Given the description of an element on the screen output the (x, y) to click on. 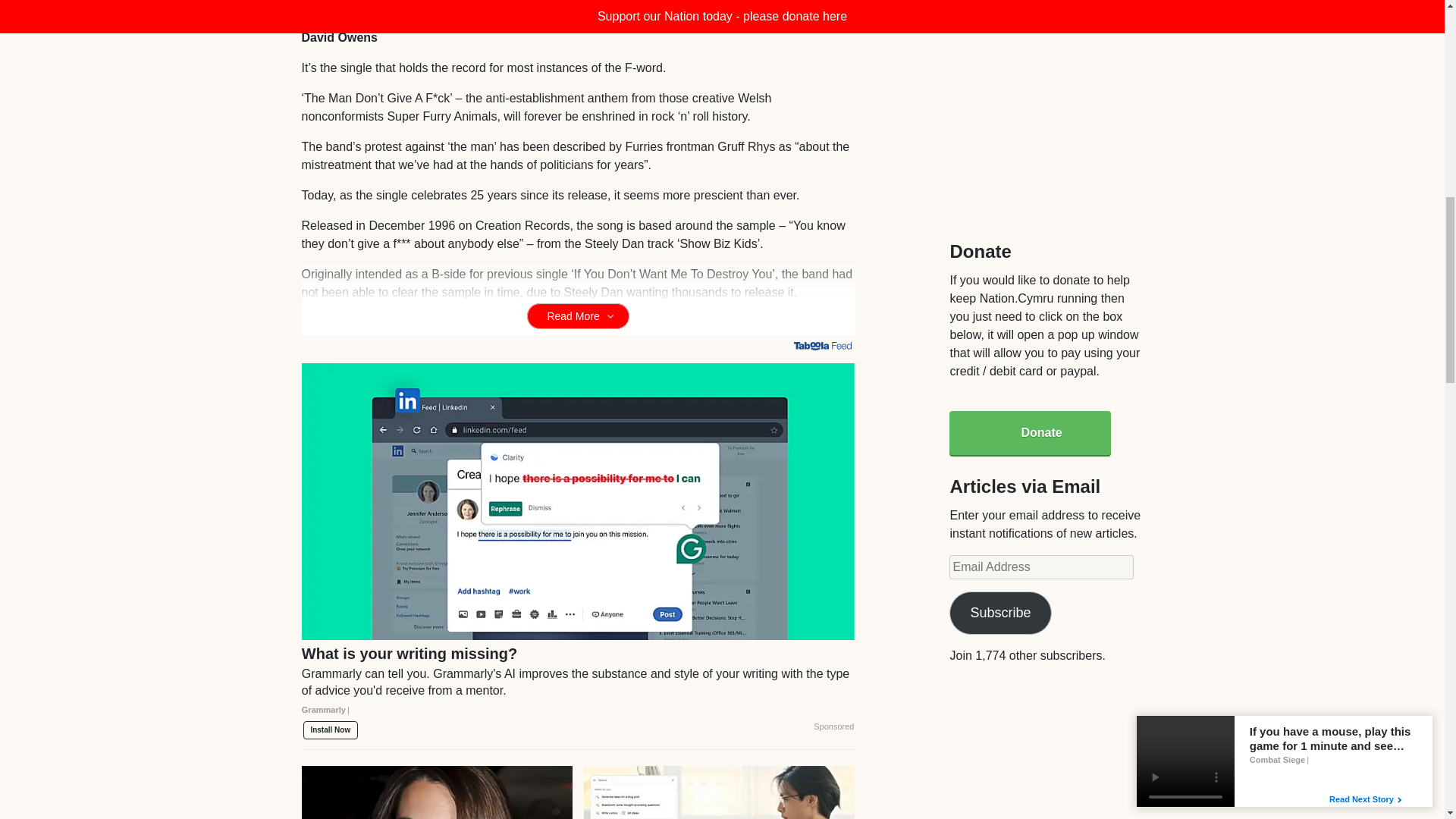
Install Now (330, 730)
Sponsored (833, 727)
Read More (577, 316)
What is your writing missing? (578, 687)
